Given the description of an element on the screen output the (x, y) to click on. 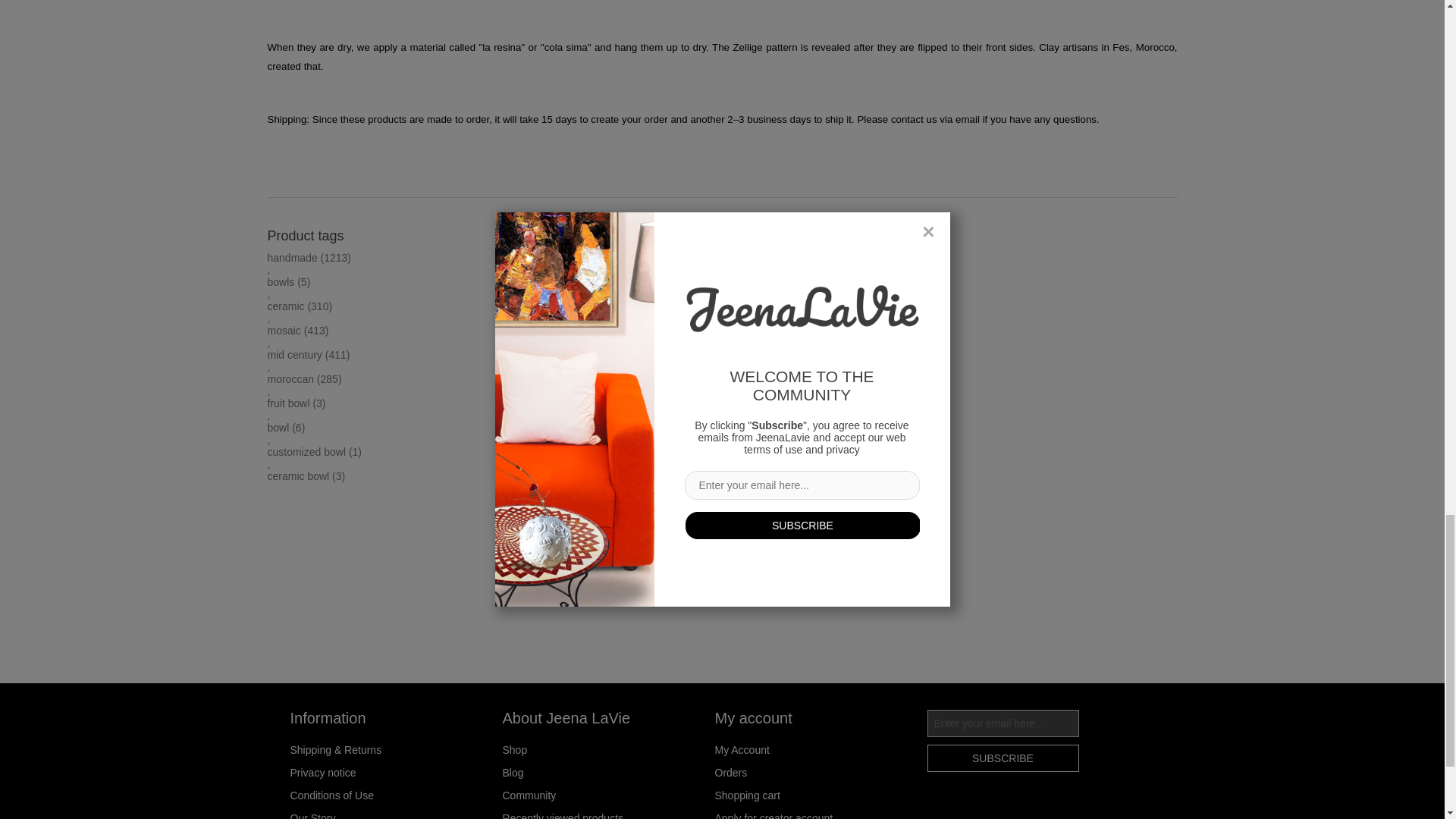
SUBSCRIBE (1002, 758)
